Given the description of an element on the screen output the (x, y) to click on. 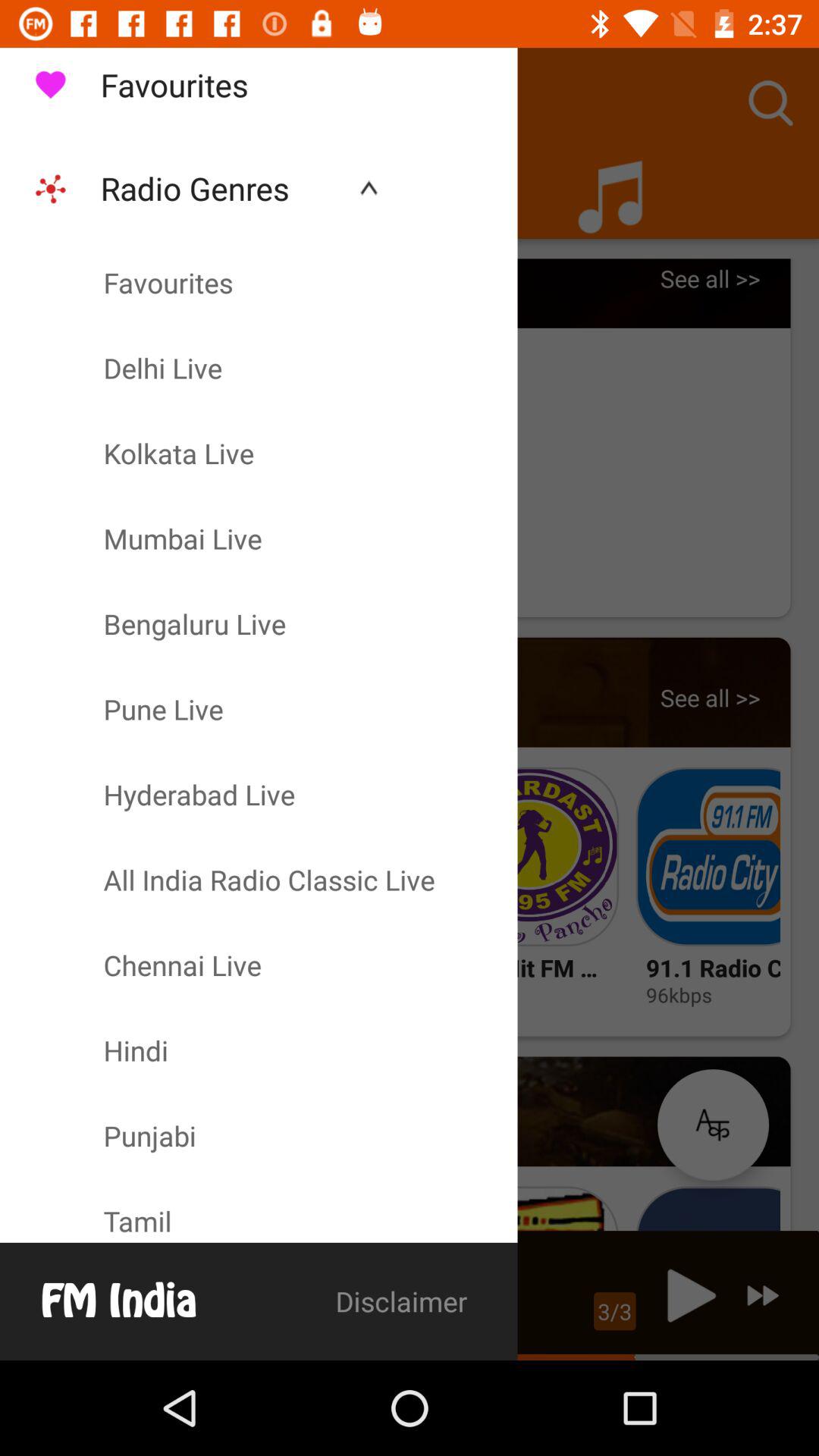
click on the language selection button which is below the 96kbps (713, 1124)
